Given the description of an element on the screen output the (x, y) to click on. 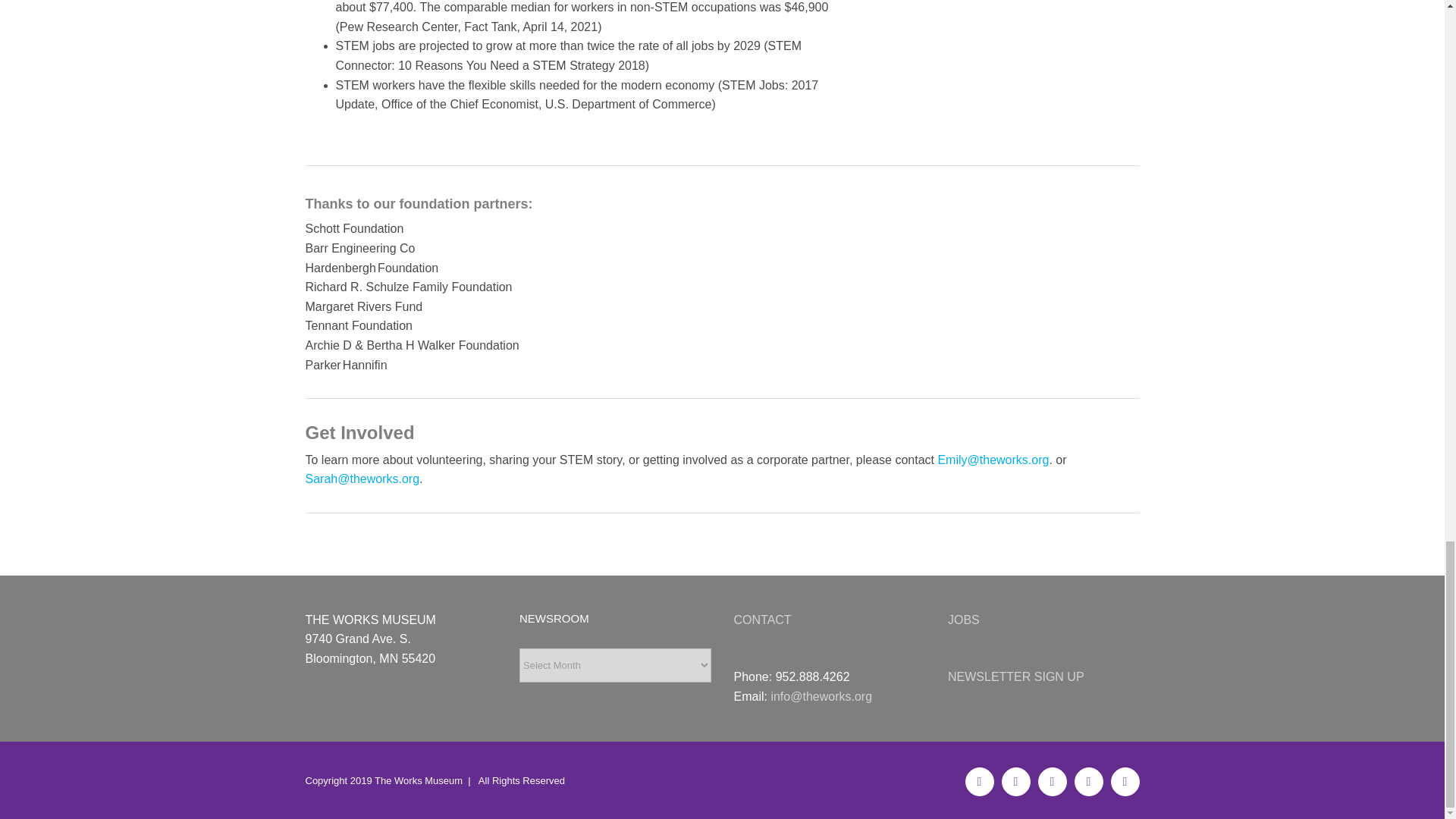
YouTube (1088, 781)
Pinterest (1123, 781)
Facebook (977, 781)
Twitter (1015, 781)
Instagram (1050, 781)
